Given the description of an element on the screen output the (x, y) to click on. 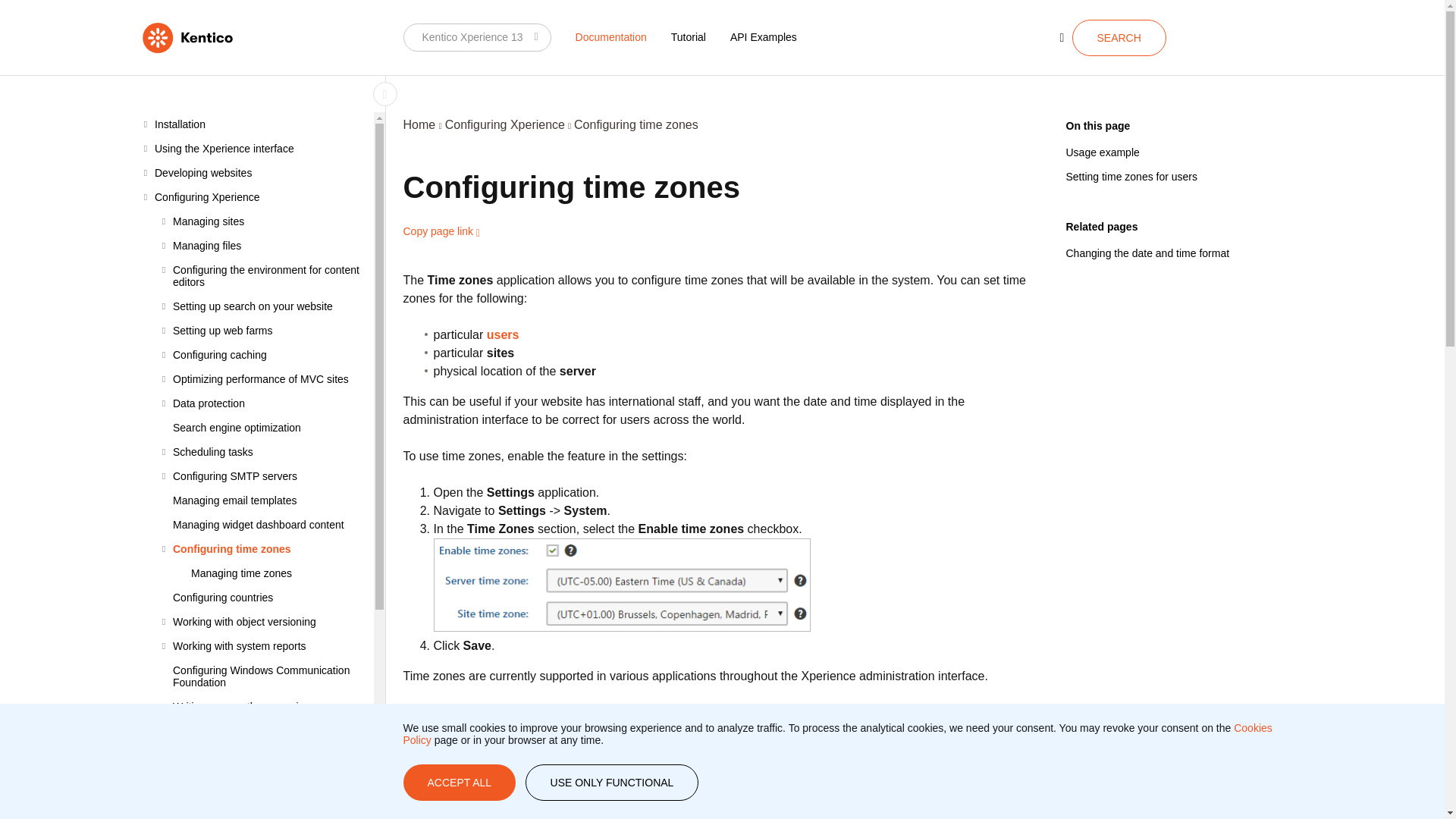
API Examples (763, 37)
Which Kentico Xperience version do you have? (477, 36)
Tutorial (688, 37)
Documentation (611, 37)
SEARCH (1118, 37)
Kentico Xperience 13 (477, 36)
Installation (257, 124)
API Examples (763, 37)
Documentation (611, 37)
Tutorial (688, 37)
